Given the description of an element on the screen output the (x, y) to click on. 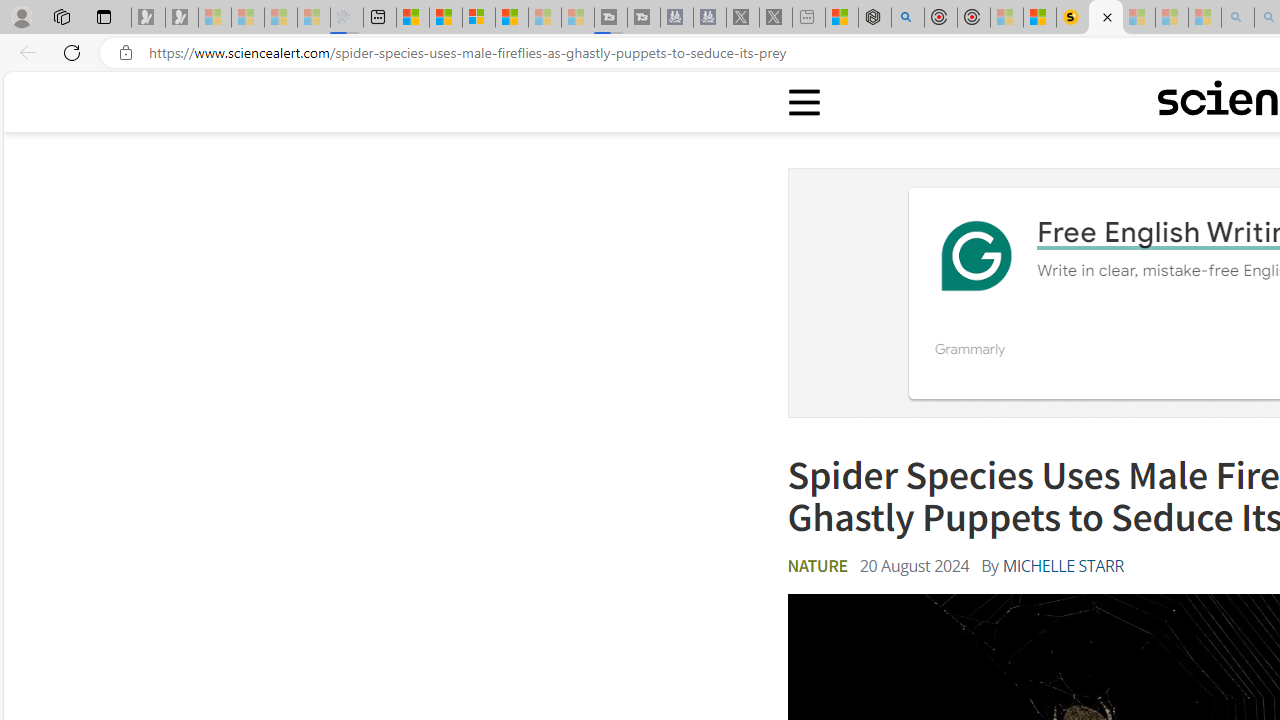
Streaming Coverage | T3 - Sleeping (611, 17)
New tab - Sleeping (808, 17)
Main menu (805, 102)
Microsoft Start - Sleeping (544, 17)
